Given the description of an element on the screen output the (x, y) to click on. 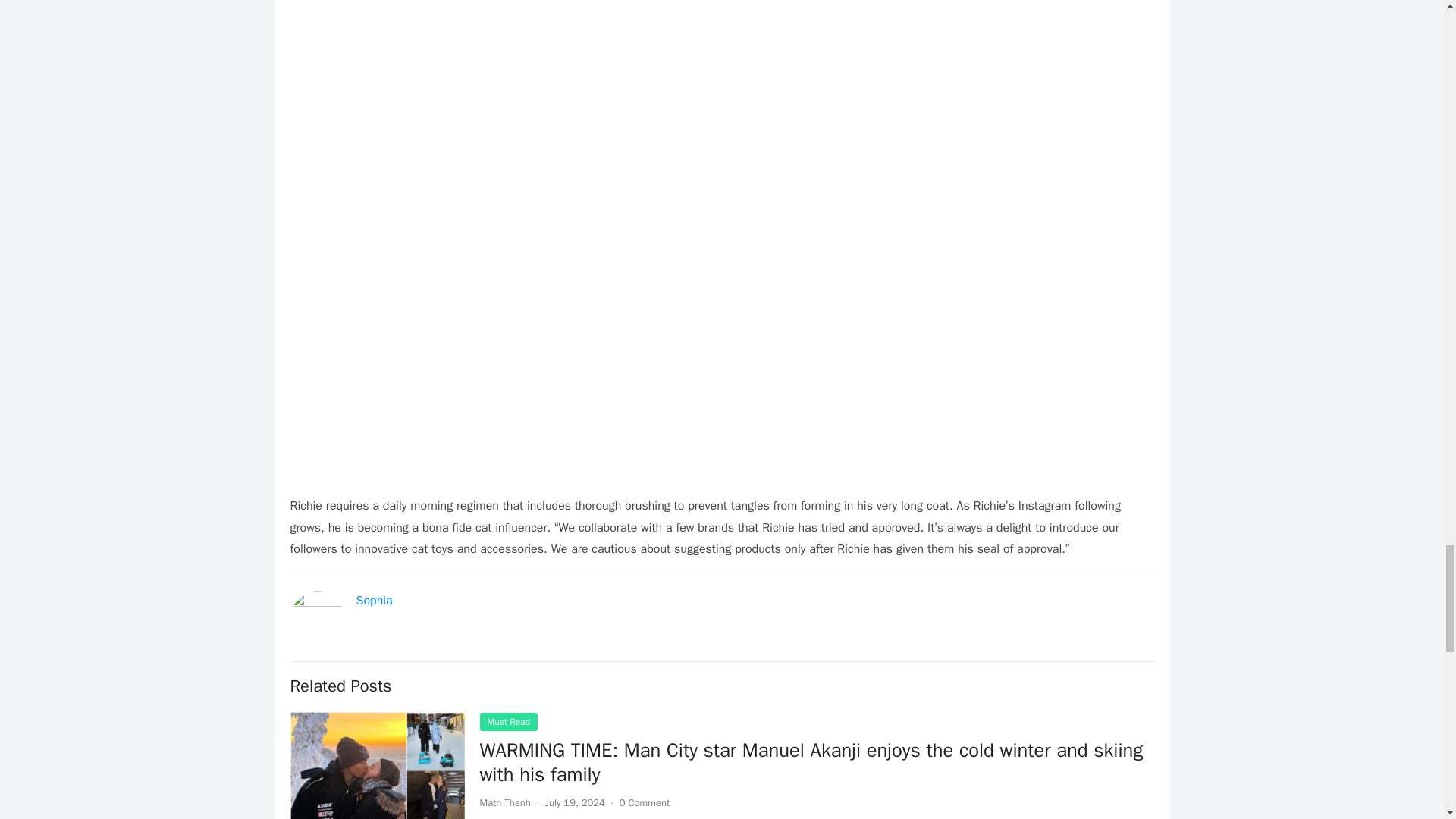
Posts by Math Thanh (504, 802)
Sophia (374, 600)
Must Read (508, 721)
Math Thanh (504, 802)
0 Comment (644, 802)
